Given the description of an element on the screen output the (x, y) to click on. 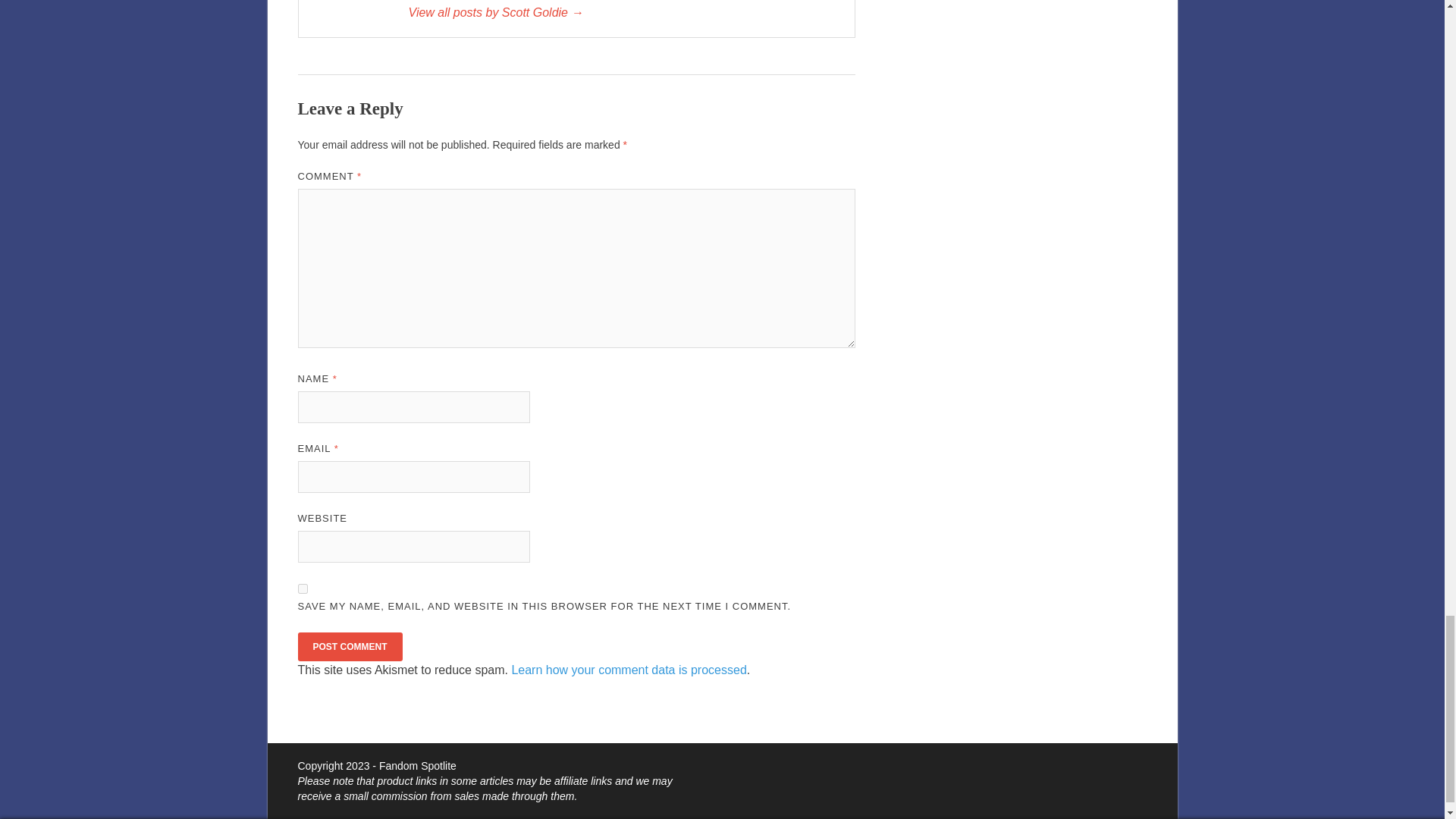
Scott Goldie (622, 13)
Post Comment (349, 646)
yes (302, 588)
